Given the description of an element on the screen output the (x, y) to click on. 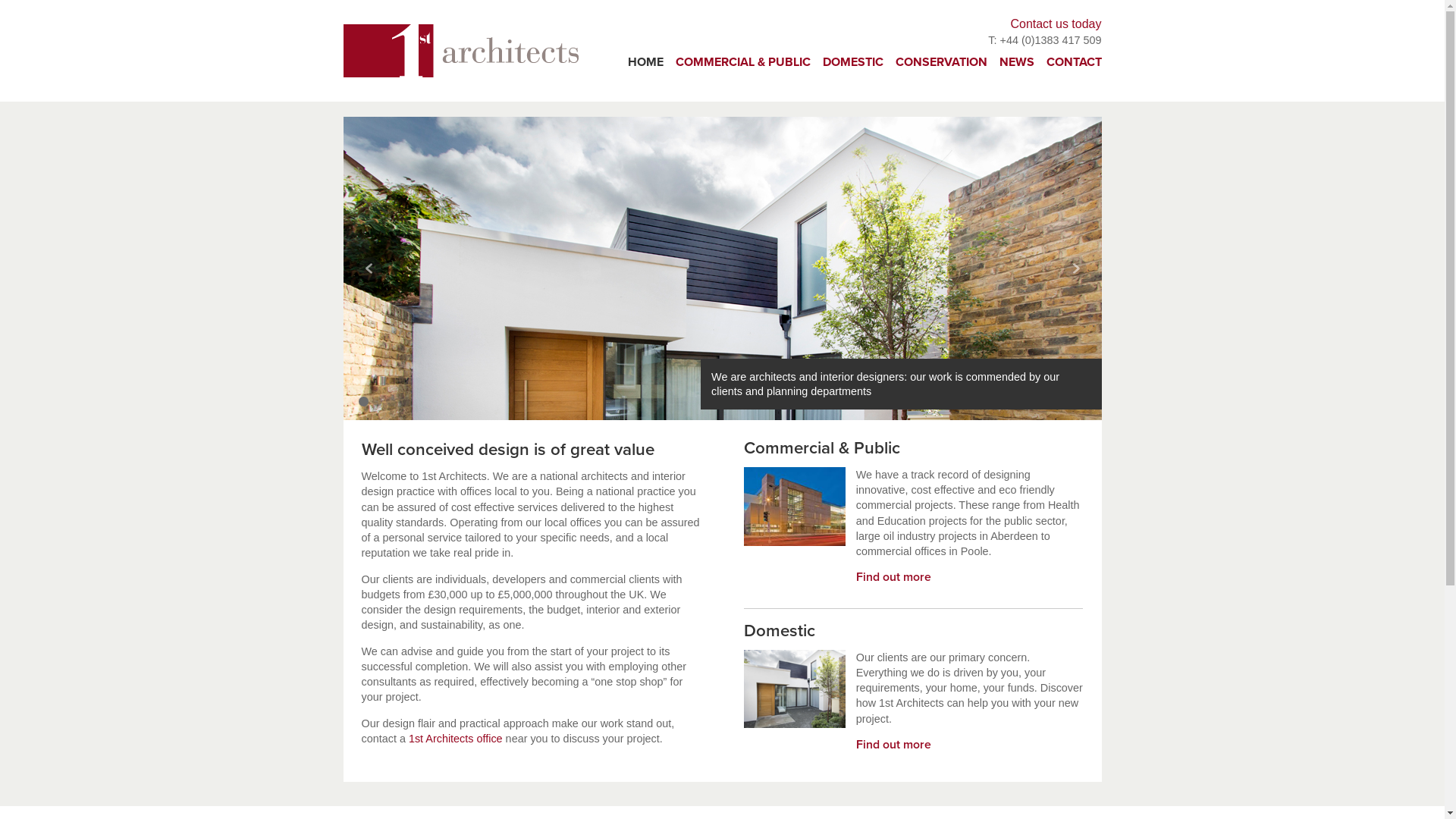
1 Element type: text (362, 401)
4 Element type: text (403, 401)
CONSERVATION Element type: text (940, 62)
CONTACT Element type: text (1073, 62)
3 Element type: text (390, 401)
1st Architects office Element type: text (455, 738)
Contact us today Element type: text (1055, 23)
2 Element type: text (376, 401)
NEWS Element type: text (1016, 62)
HOME Element type: text (645, 62)
Find out more Element type: text (893, 744)
Next Element type: text (1074, 268)
Find out more Element type: text (893, 576)
Previous Element type: text (368, 268)
COMMERCIAL & PUBLIC Element type: text (741, 62)
DOMESTIC Element type: text (852, 62)
